Given the description of an element on the screen output the (x, y) to click on. 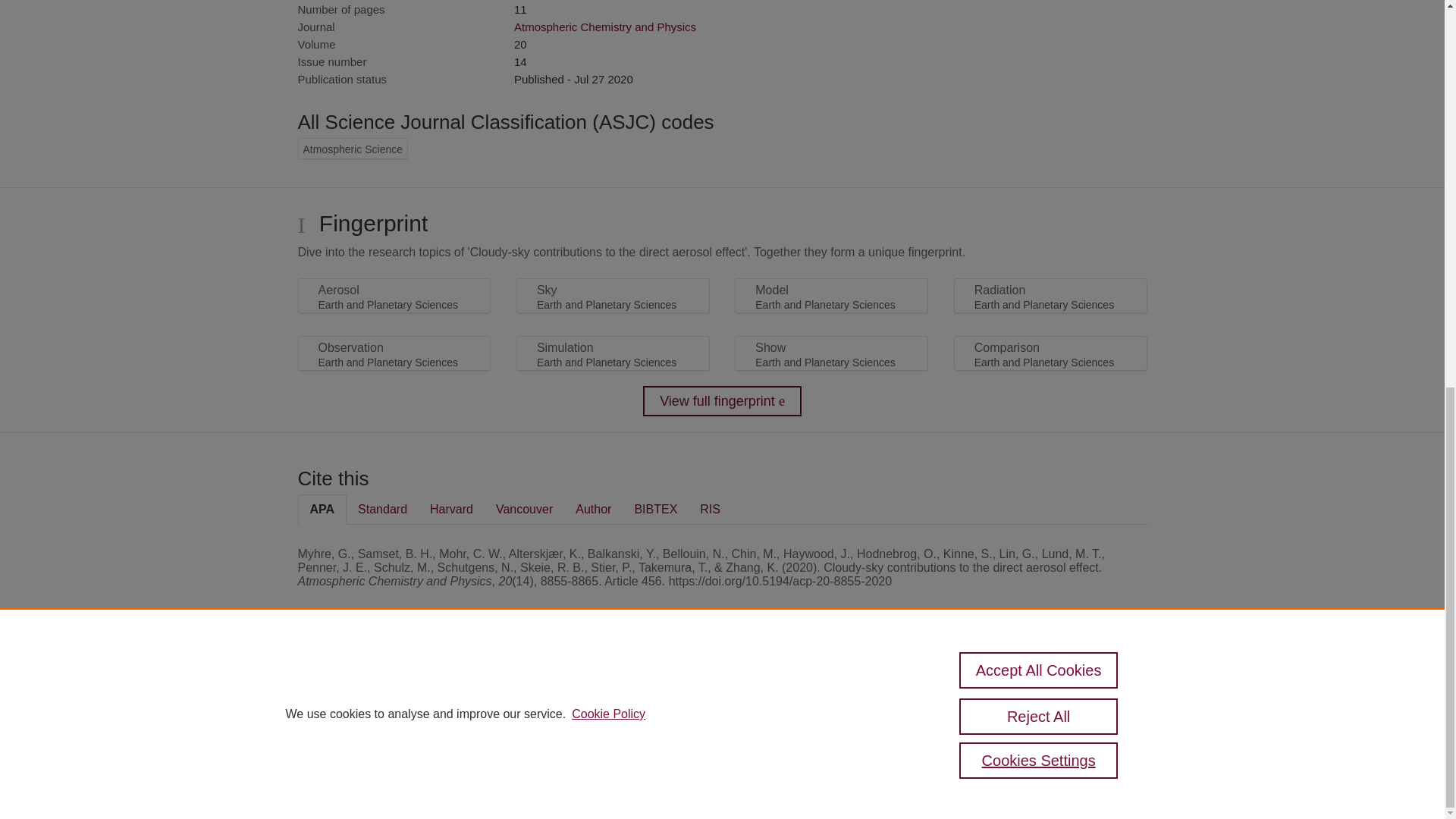
View full fingerprint (722, 400)
Scopus (394, 686)
Atmospheric Chemistry and Physics (604, 26)
Pure (362, 686)
